Given the description of an element on the screen output the (x, y) to click on. 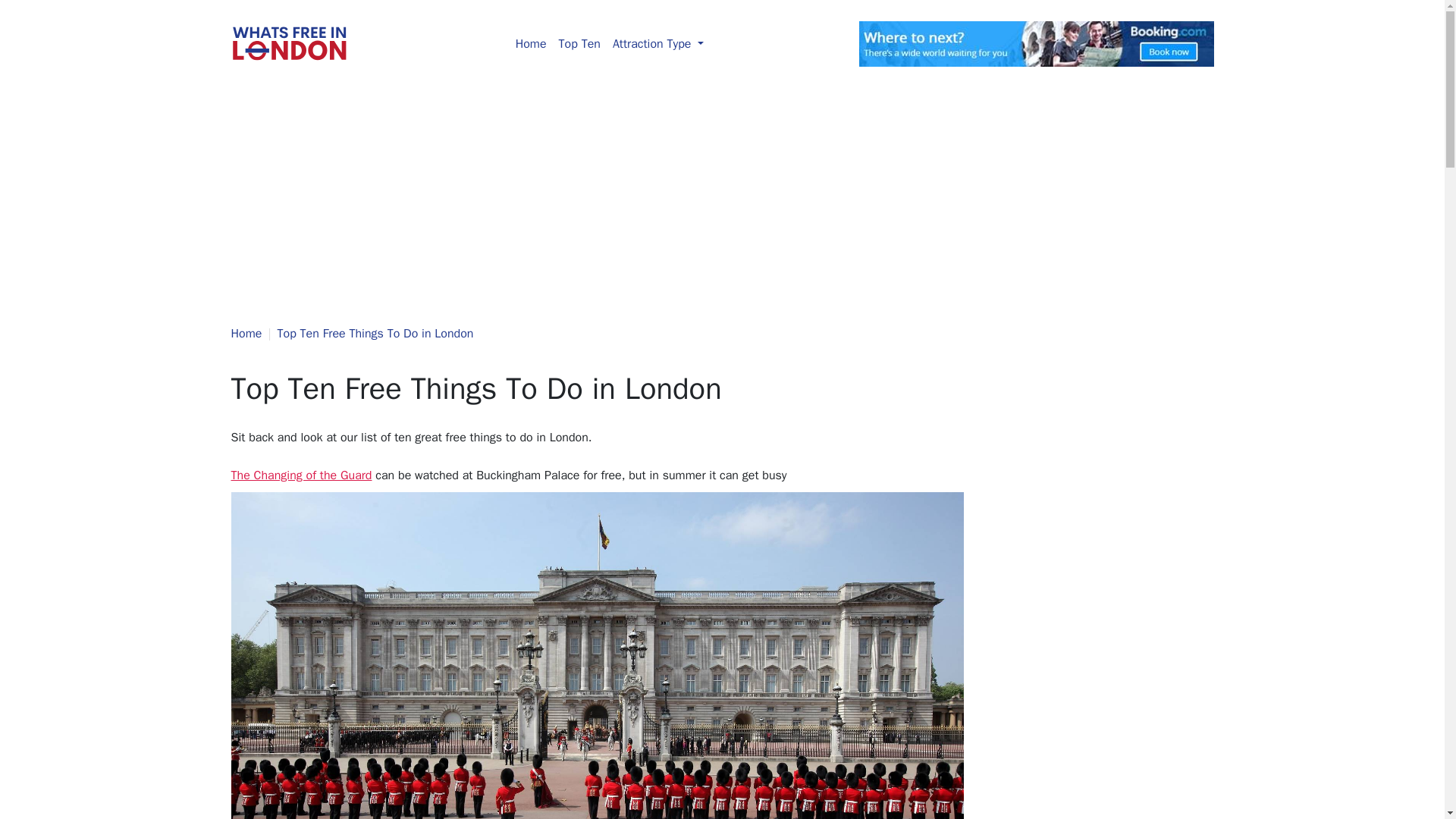
The Changing of the Guard (300, 475)
Attraction Type (658, 43)
Home (531, 43)
Top Ten Free Things To Do in London (376, 333)
Home (246, 333)
Top Ten (580, 43)
